Given the description of an element on the screen output the (x, y) to click on. 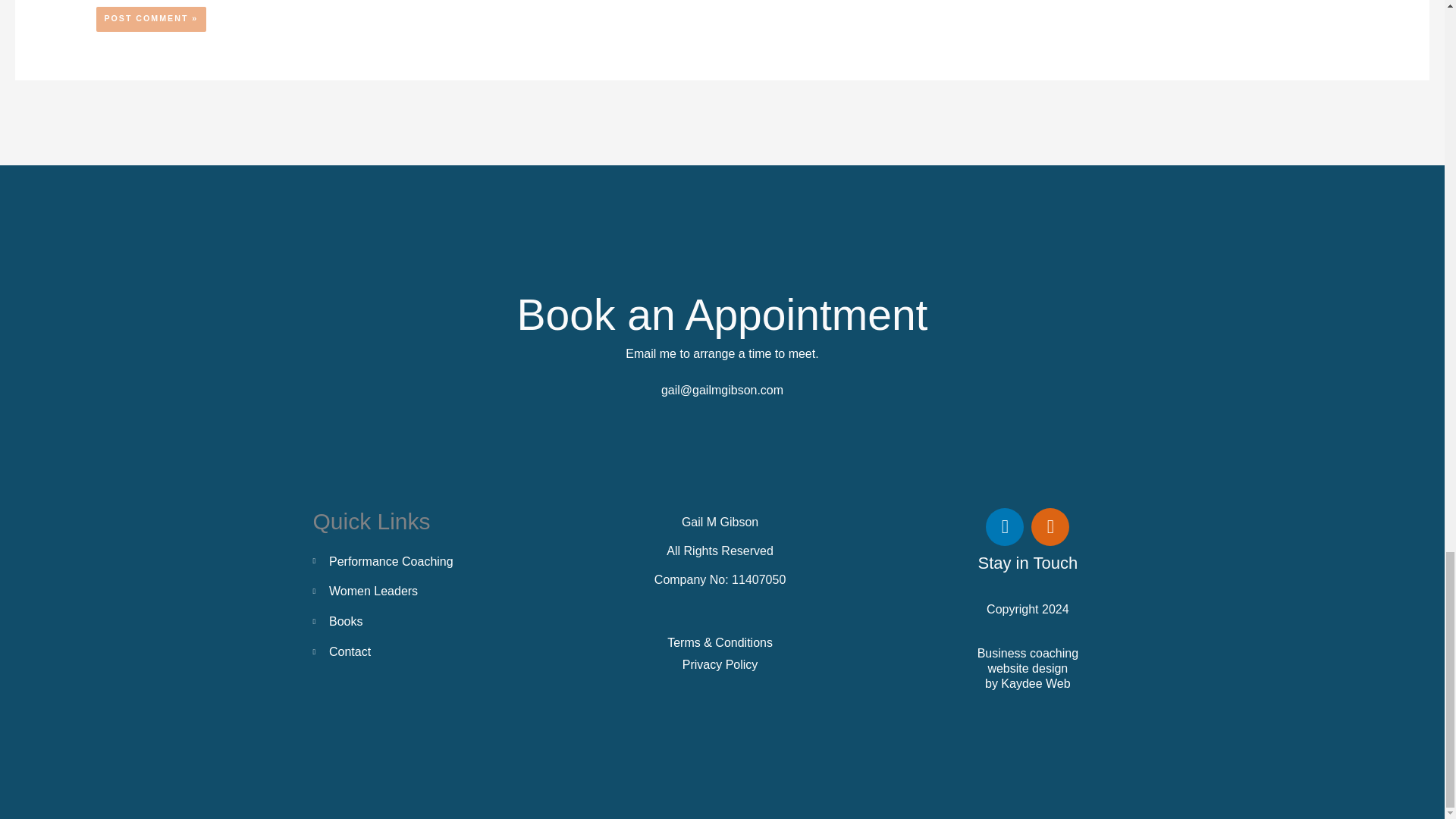
Contact (413, 651)
Envelope (1049, 526)
Performance Coaching (413, 561)
Privacy Policy (719, 664)
Women Leaders (413, 590)
Books (413, 621)
Linkedin (1004, 526)
